Given the description of an element on the screen output the (x, y) to click on. 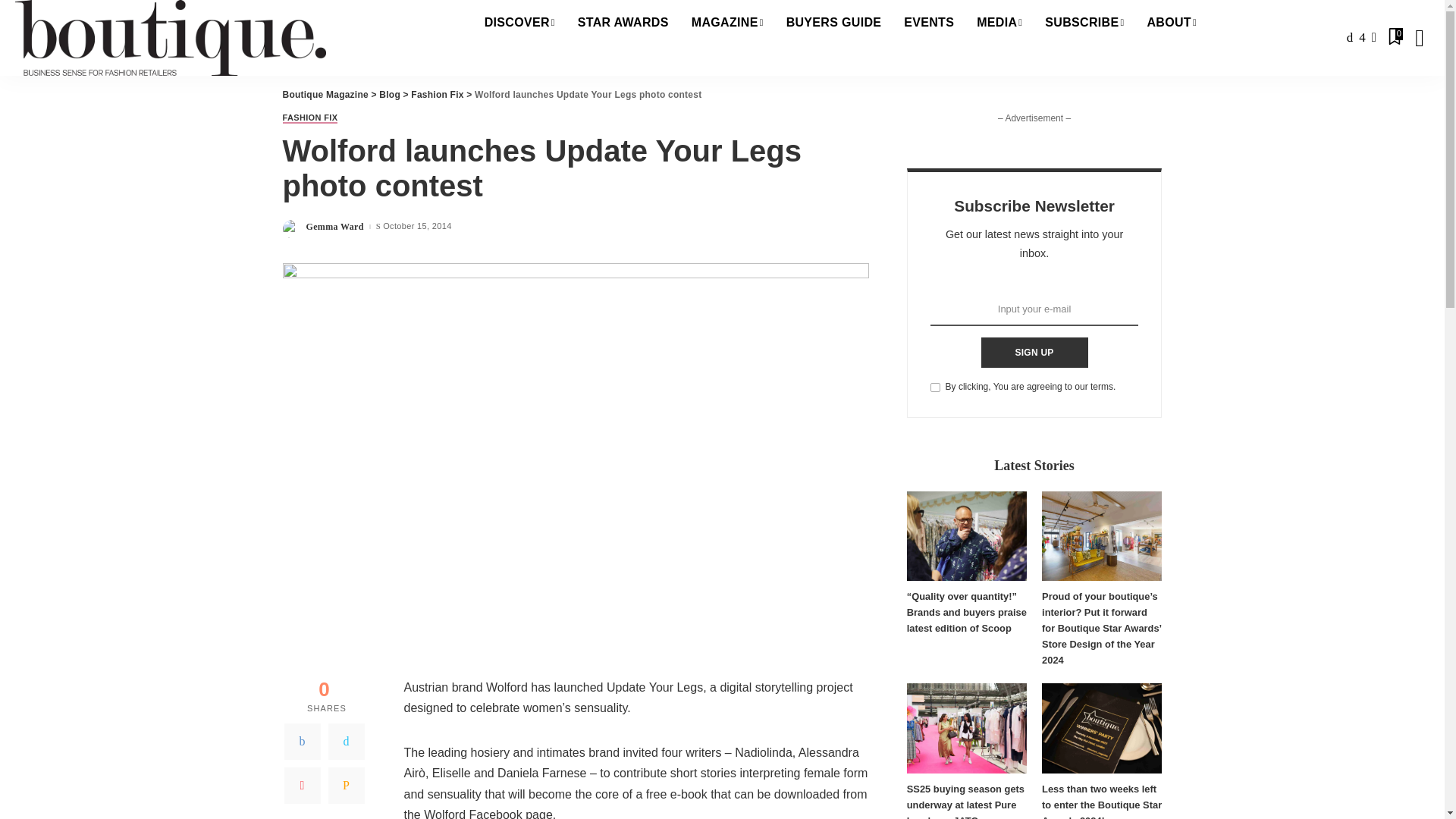
Boutique Magazine (170, 38)
